Given the description of an element on the screen output the (x, y) to click on. 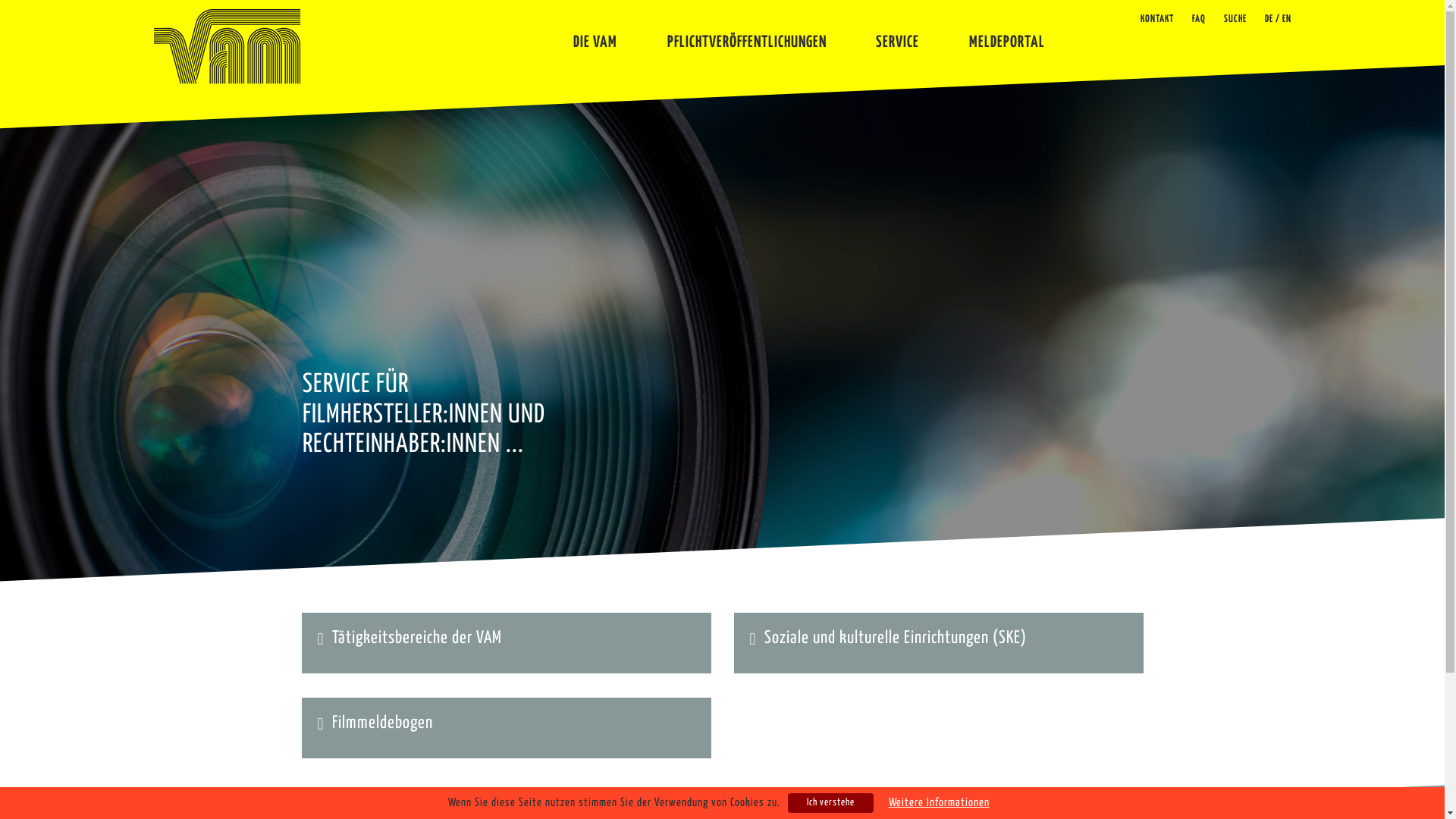
Filmmeldebogen Element type: text (382, 722)
DIE VAM Element type: text (595, 36)
DE / EN Element type: text (1277, 19)
SERVICE Element type: text (897, 36)
FAQ Element type: text (1198, 19)
Ich verstehe Element type: text (829, 802)
MELDEPORTAL Element type: text (1006, 36)
Soziale und kulturelle Einrichtungen (SKE) Element type: text (895, 637)
VAM Element type: text (226, 46)
SUCHE Element type: text (1234, 19)
Weitere Informationen Element type: text (938, 802)
KONTAKT Element type: text (1156, 19)
